Given the description of an element on the screen output the (x, y) to click on. 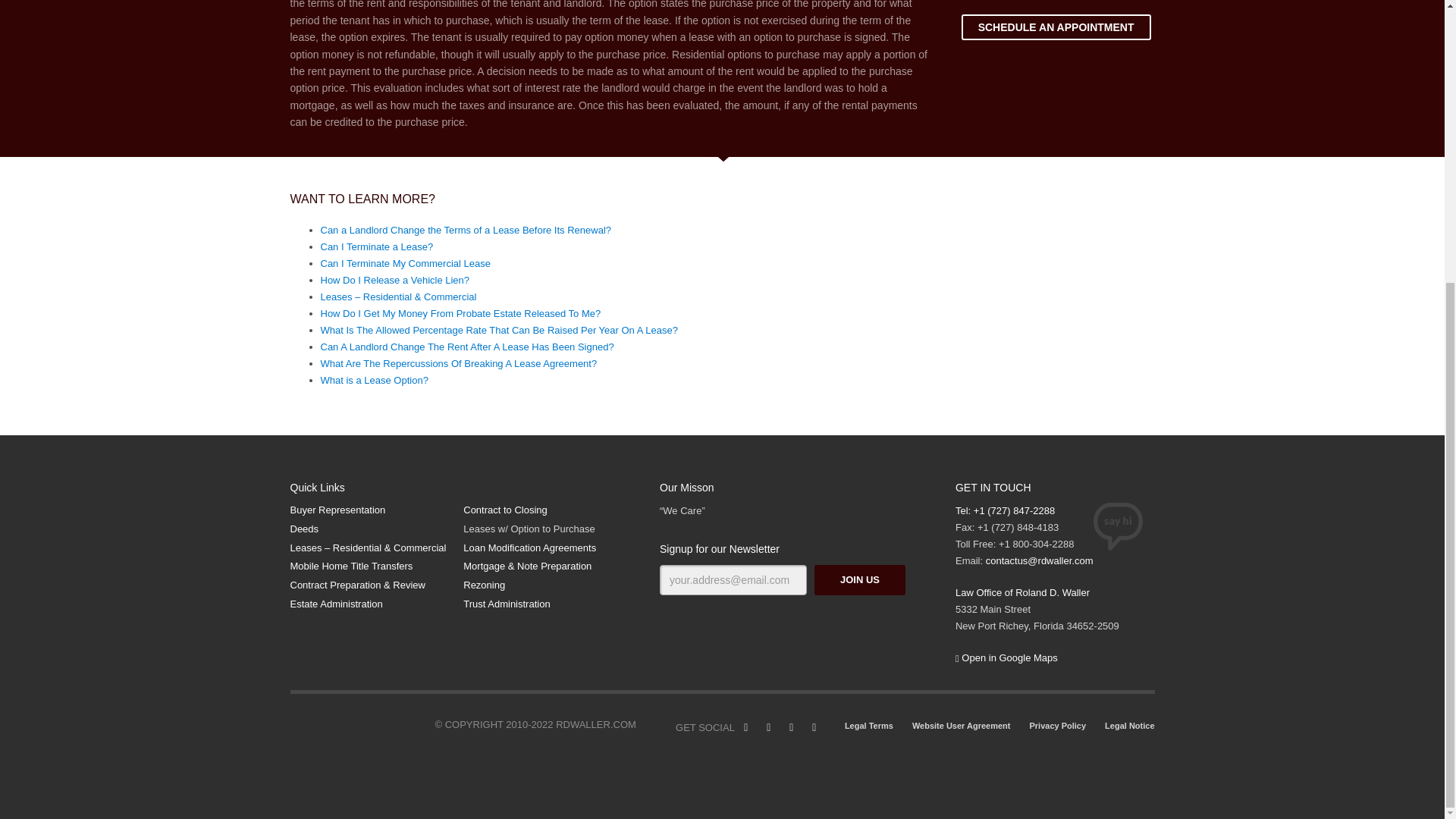
How Do I Get My Money From Probate Estate Released To Me? (459, 313)
Like us on Facebook! (746, 727)
Follow our tweets! (768, 727)
Can I Terminate My Commercial Lease (404, 263)
What Are The Repercussions Of Breaking A Lease Agreement? (458, 363)
JOIN US (859, 580)
YouTube (791, 727)
